Given the description of an element on the screen output the (x, y) to click on. 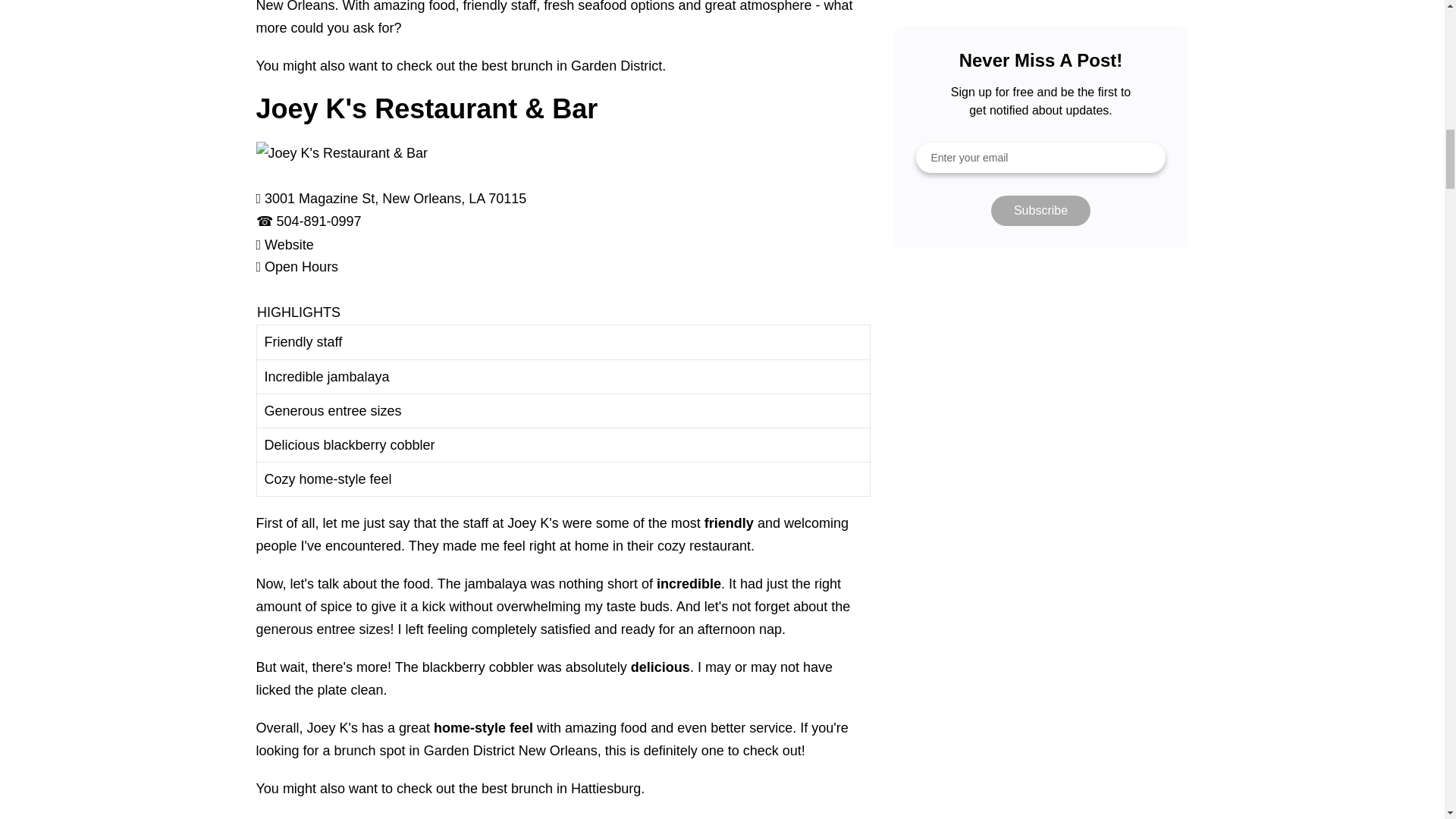
Website (289, 244)
3001 Magazine St, New Orleans, LA 70115 (394, 198)
best brunch in Garden District (571, 65)
504-891-0997 (318, 221)
best brunch in Hattiesburg (560, 788)
